Given the description of an element on the screen output the (x, y) to click on. 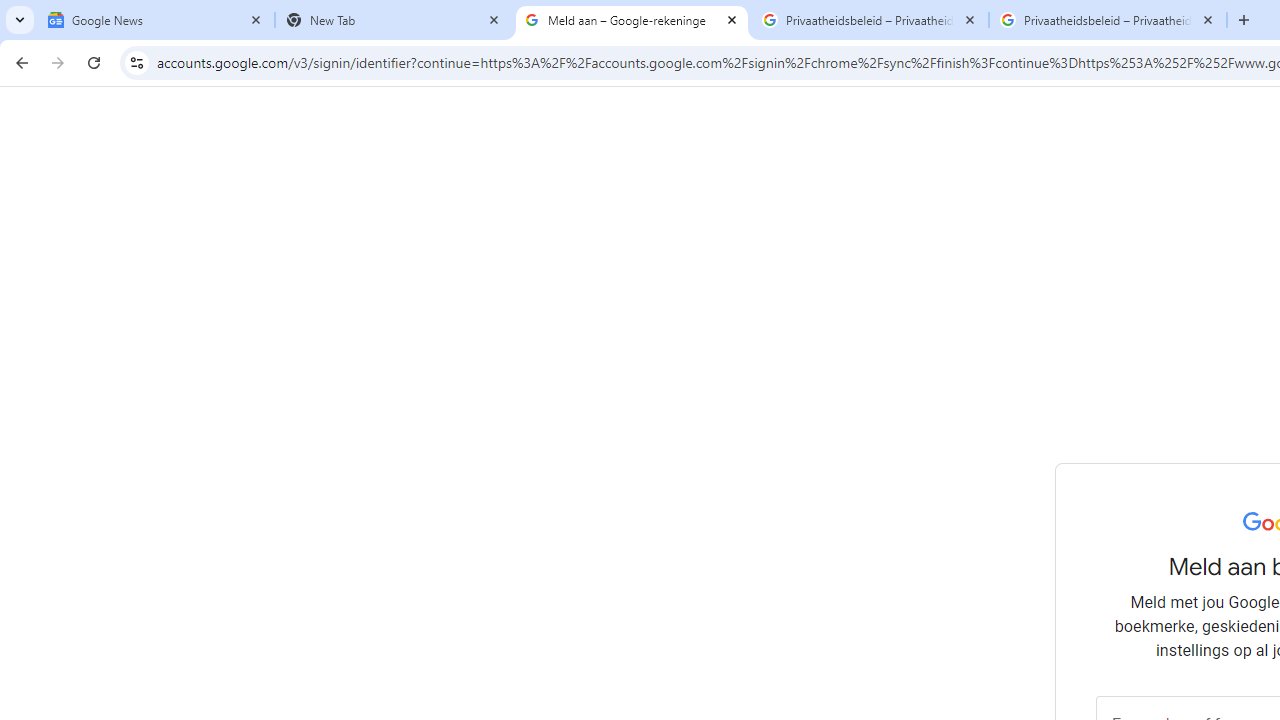
New Tab (394, 20)
Google News (156, 20)
